Given the description of an element on the screen output the (x, y) to click on. 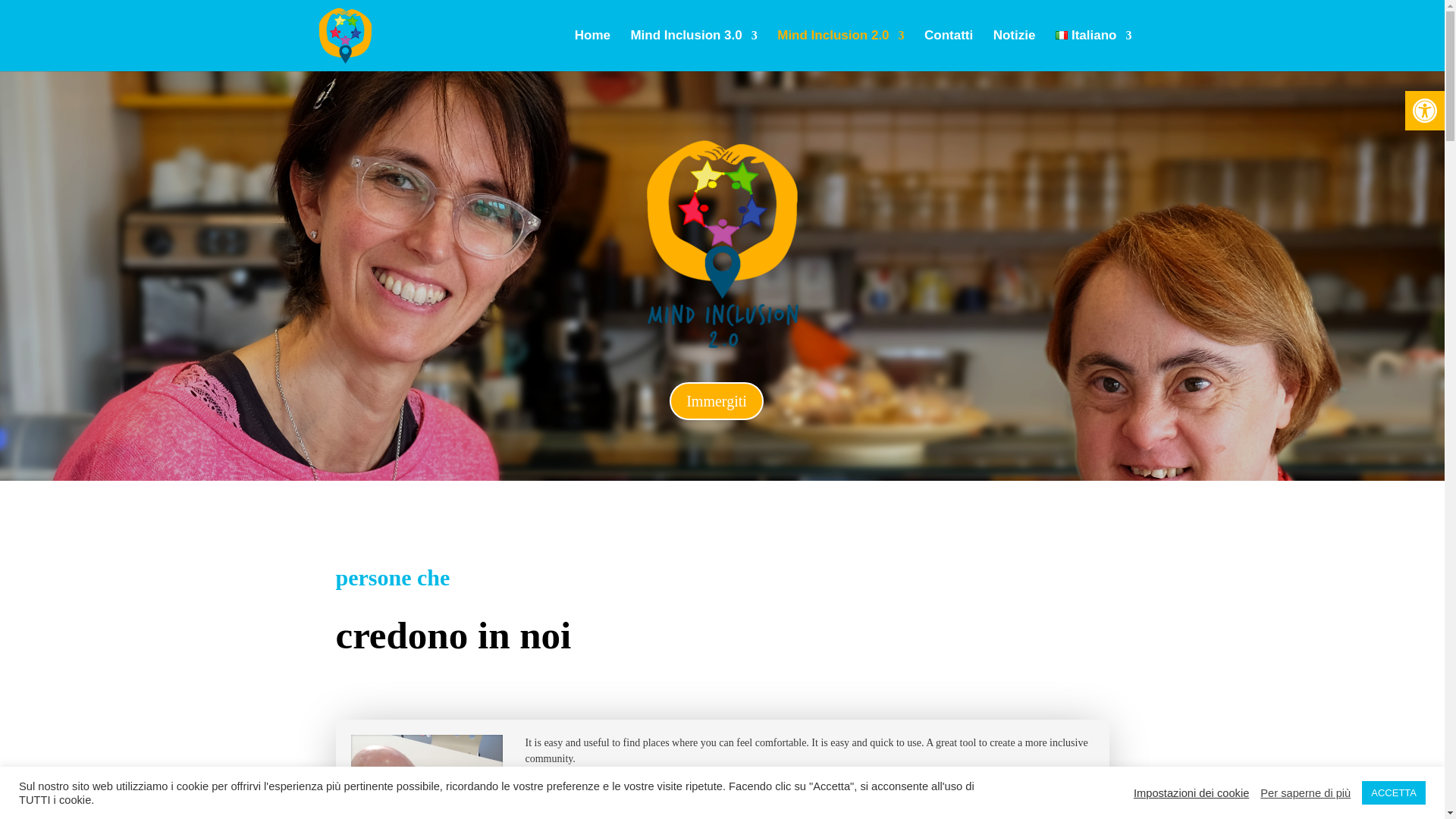
Contatti (948, 50)
Mind Inclusion 3.0 (693, 50)
Italiano (1093, 50)
Mind Inclusion 2.0 (840, 50)
Accessibility Tools (1424, 110)
Notizie (1013, 50)
